Given the description of an element on the screen output the (x, y) to click on. 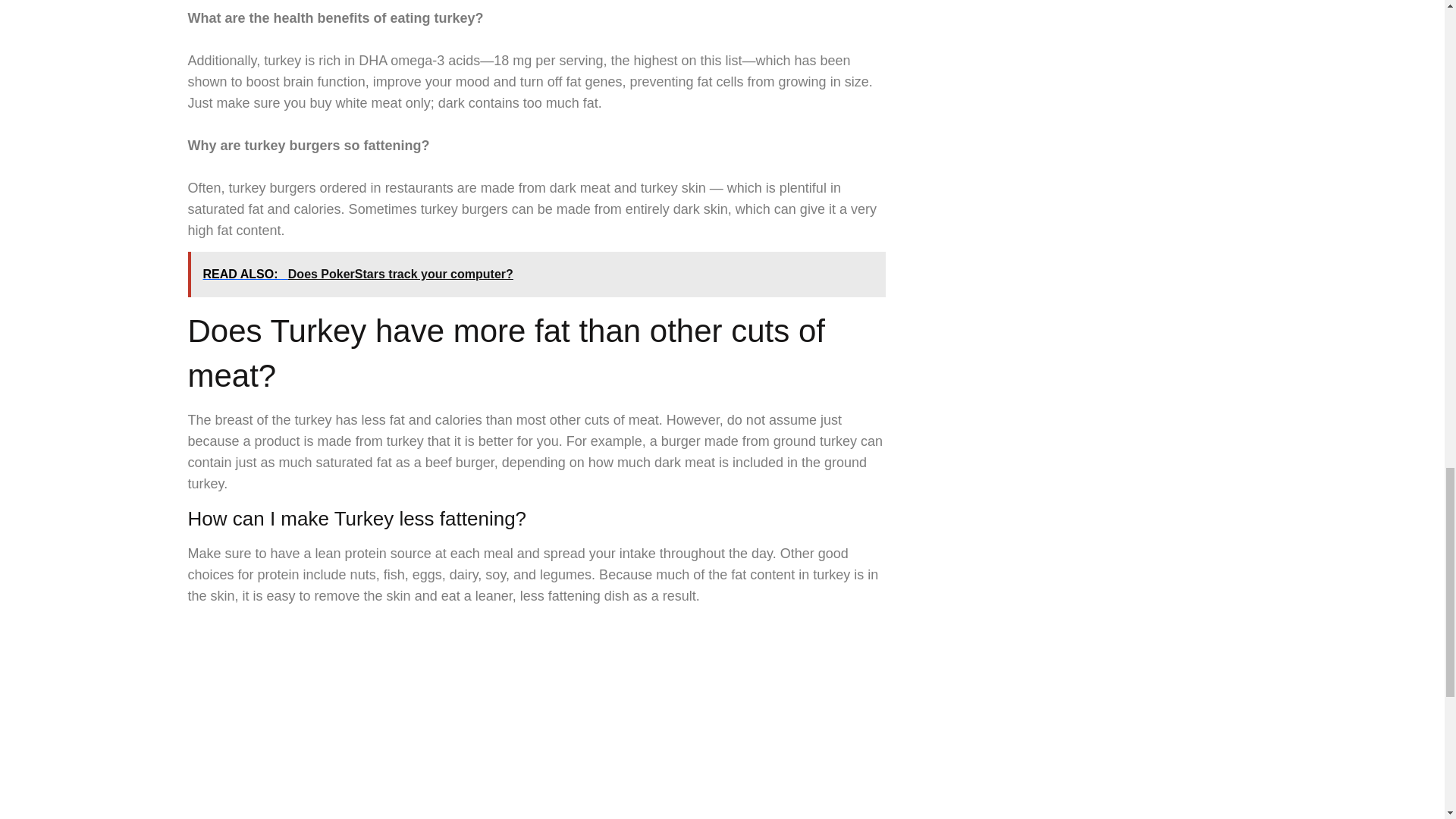
Does Eating Turkey Make You Drowsy (498, 723)
READ ALSO:   Does PokerStars track your computer? (536, 274)
